Given the description of an element on the screen output the (x, y) to click on. 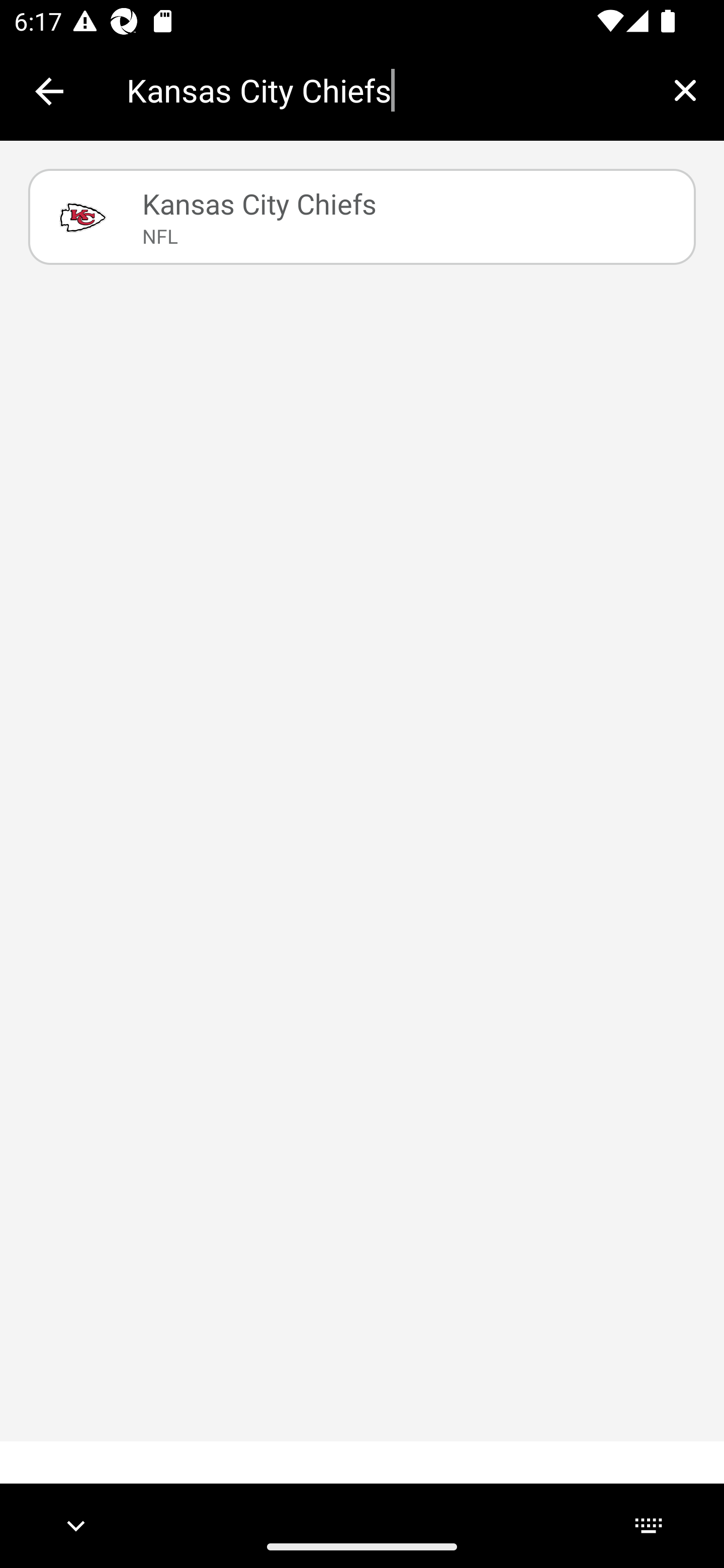
Collapse (49, 91)
Clear query (685, 89)
Kansas City Chiefs (386, 90)
Kansas City Chiefs NFL (361, 216)
